Given the description of an element on the screen output the (x, y) to click on. 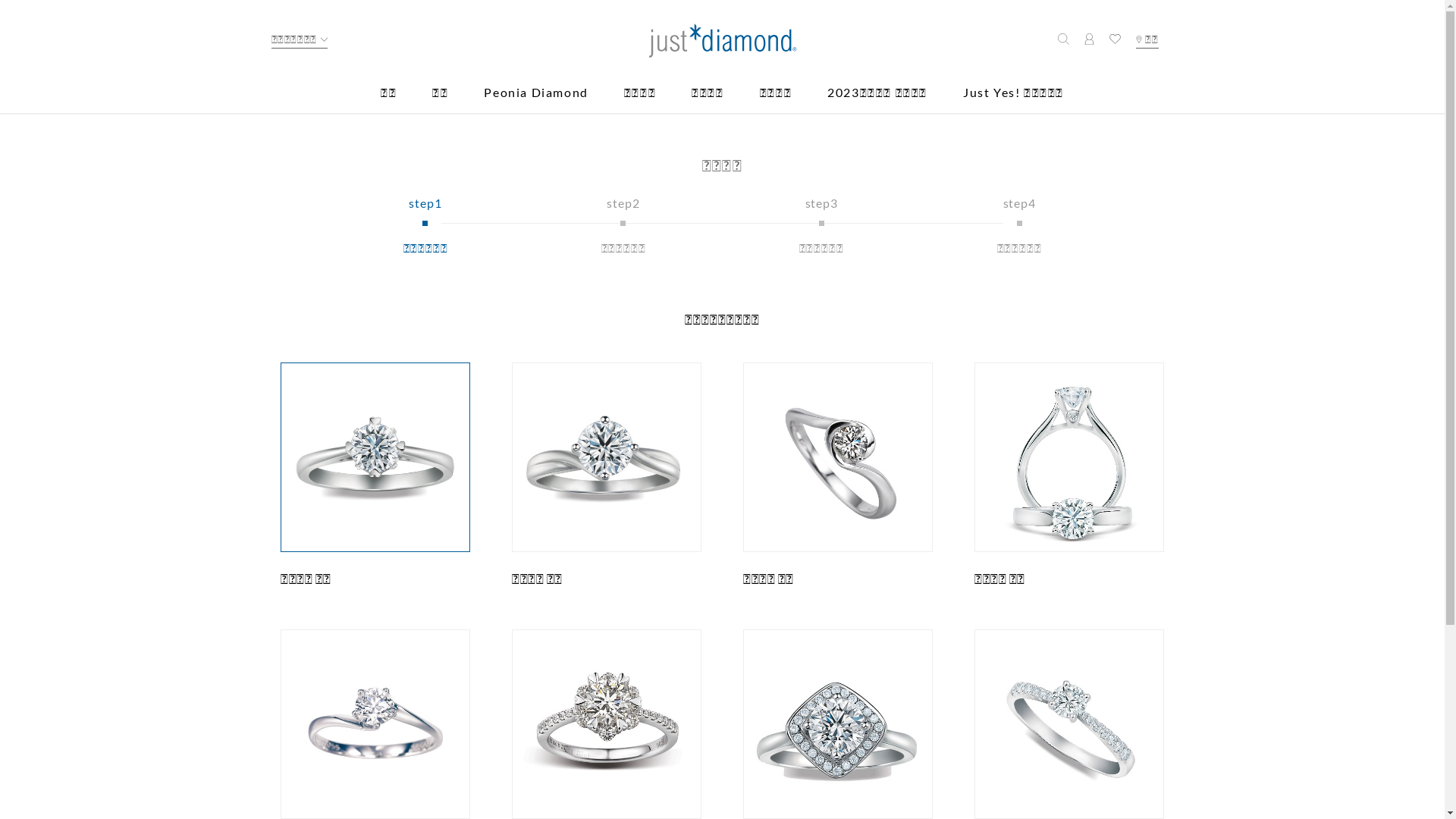
Peonia Diamond Element type: text (535, 99)
